Given the description of an element on the screen output the (x, y) to click on. 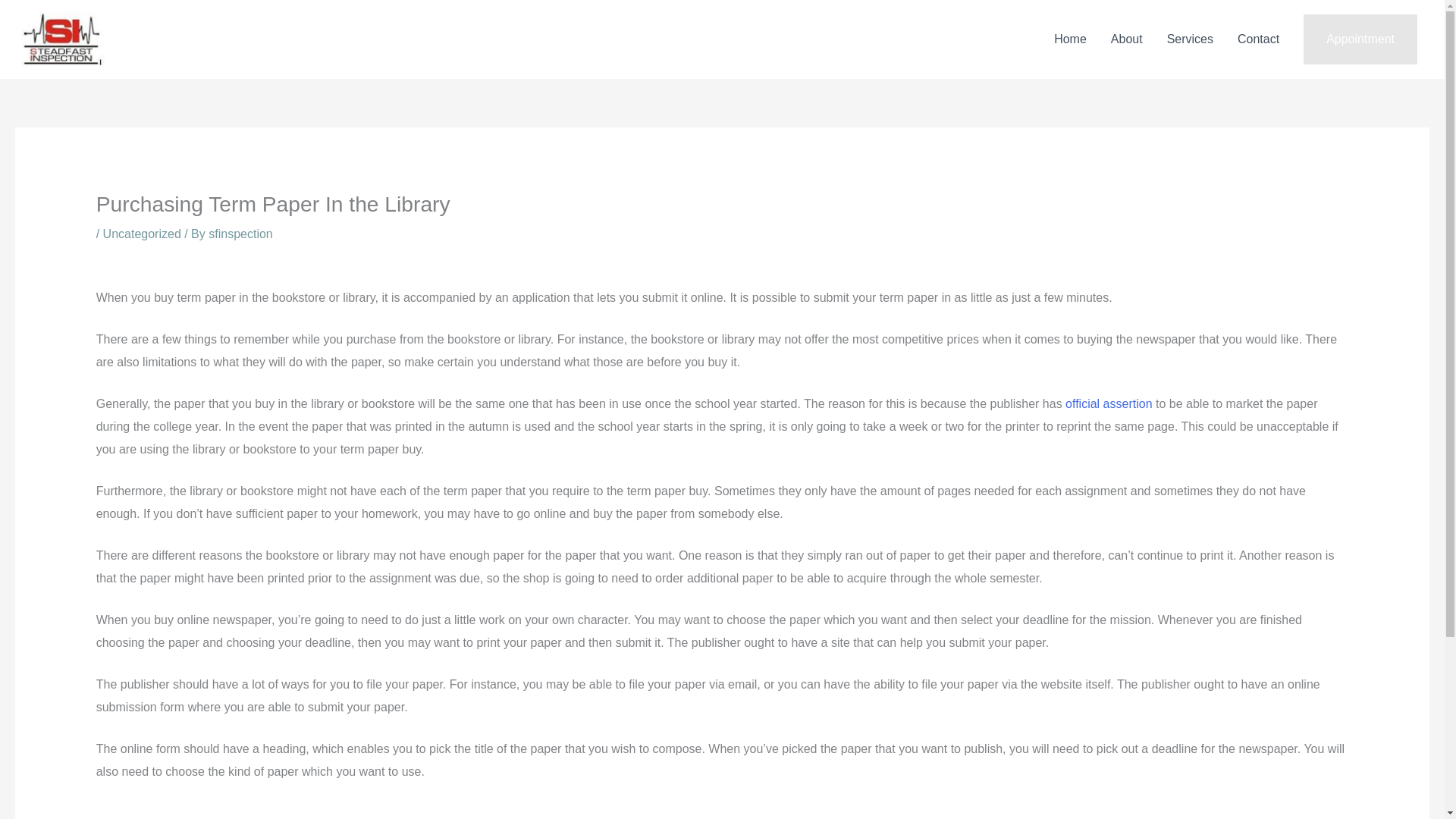
View all posts by sfinspection (240, 233)
official assertion (1108, 403)
Uncategorized (141, 233)
Home (1070, 39)
sfinspection (240, 233)
Contact (1258, 39)
About (1126, 39)
Services (1189, 39)
Appointment (1359, 39)
